Given the description of an element on the screen output the (x, y) to click on. 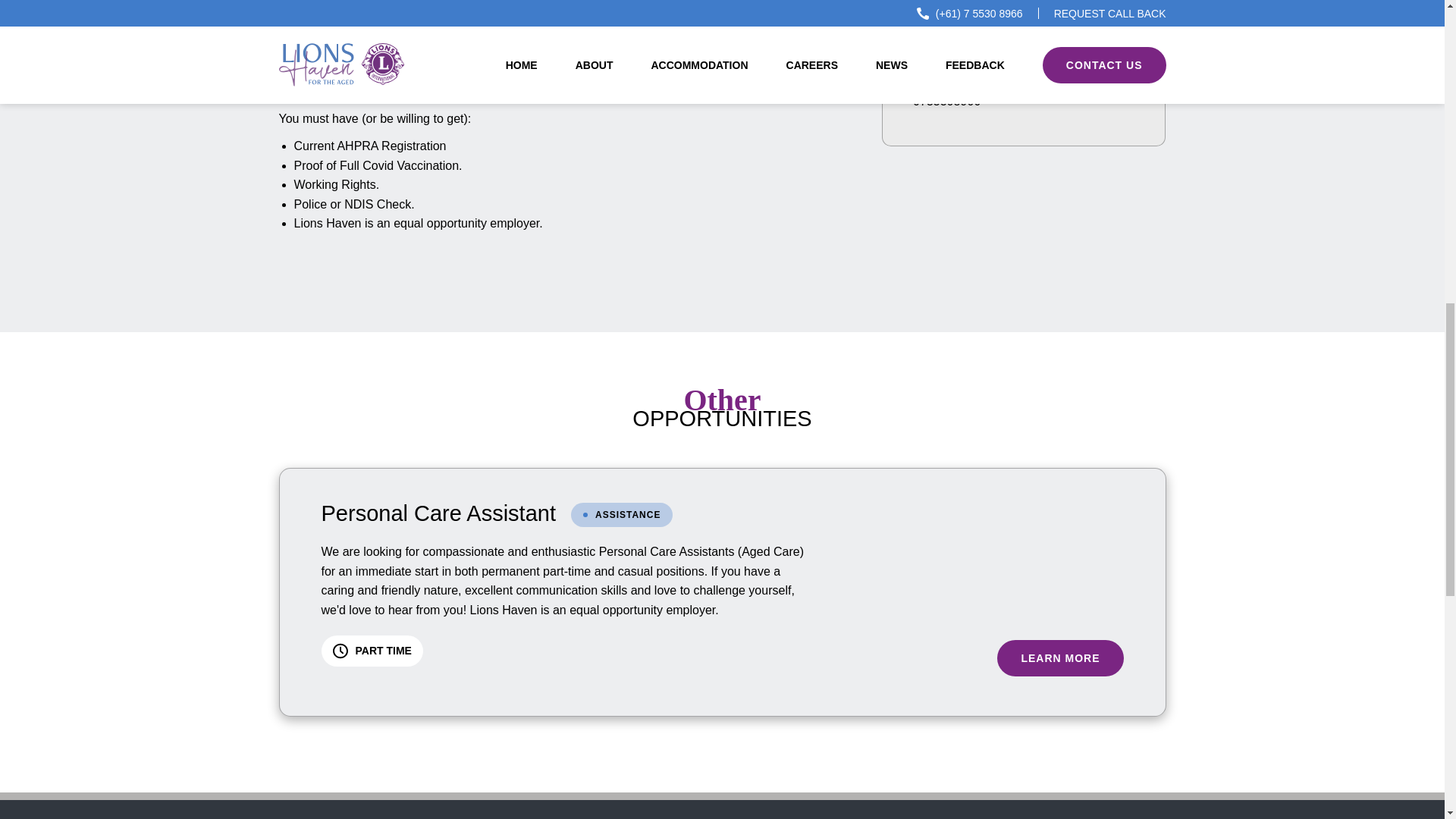
0755308966 (945, 101)
LEARN MORE (1059, 657)
